Given the description of an element on the screen output the (x, y) to click on. 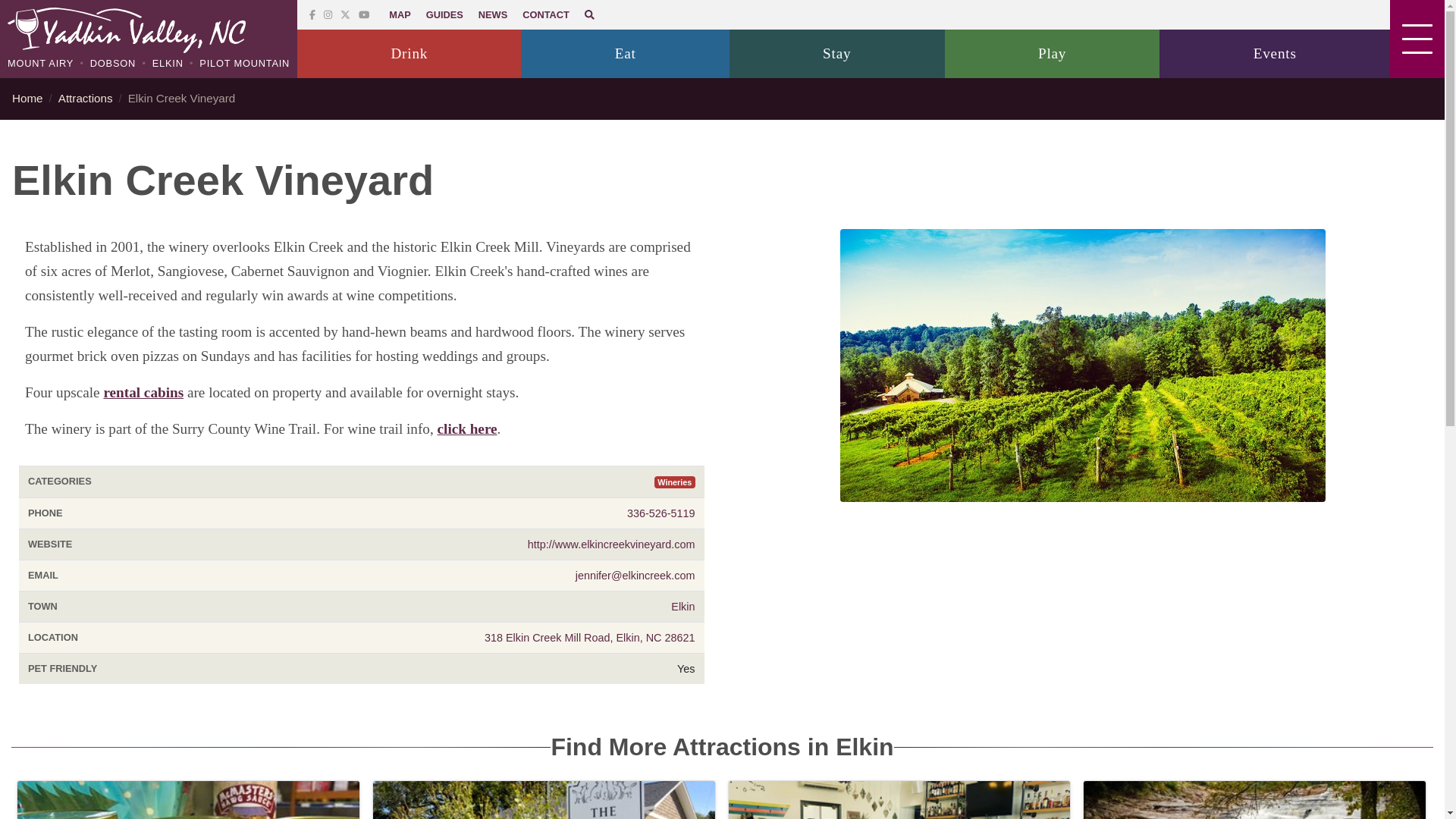
GUIDES (444, 14)
MOUNT AIRY (40, 62)
MAP (399, 14)
PILOT MOUNTAIN (242, 62)
DOBSON (111, 62)
Eat (625, 53)
CONTACT (545, 14)
Stay (836, 53)
Events (1274, 53)
ELKIN (166, 62)
Drink (409, 53)
NEWS (492, 14)
Play (1052, 53)
